Given the description of an element on the screen output the (x, y) to click on. 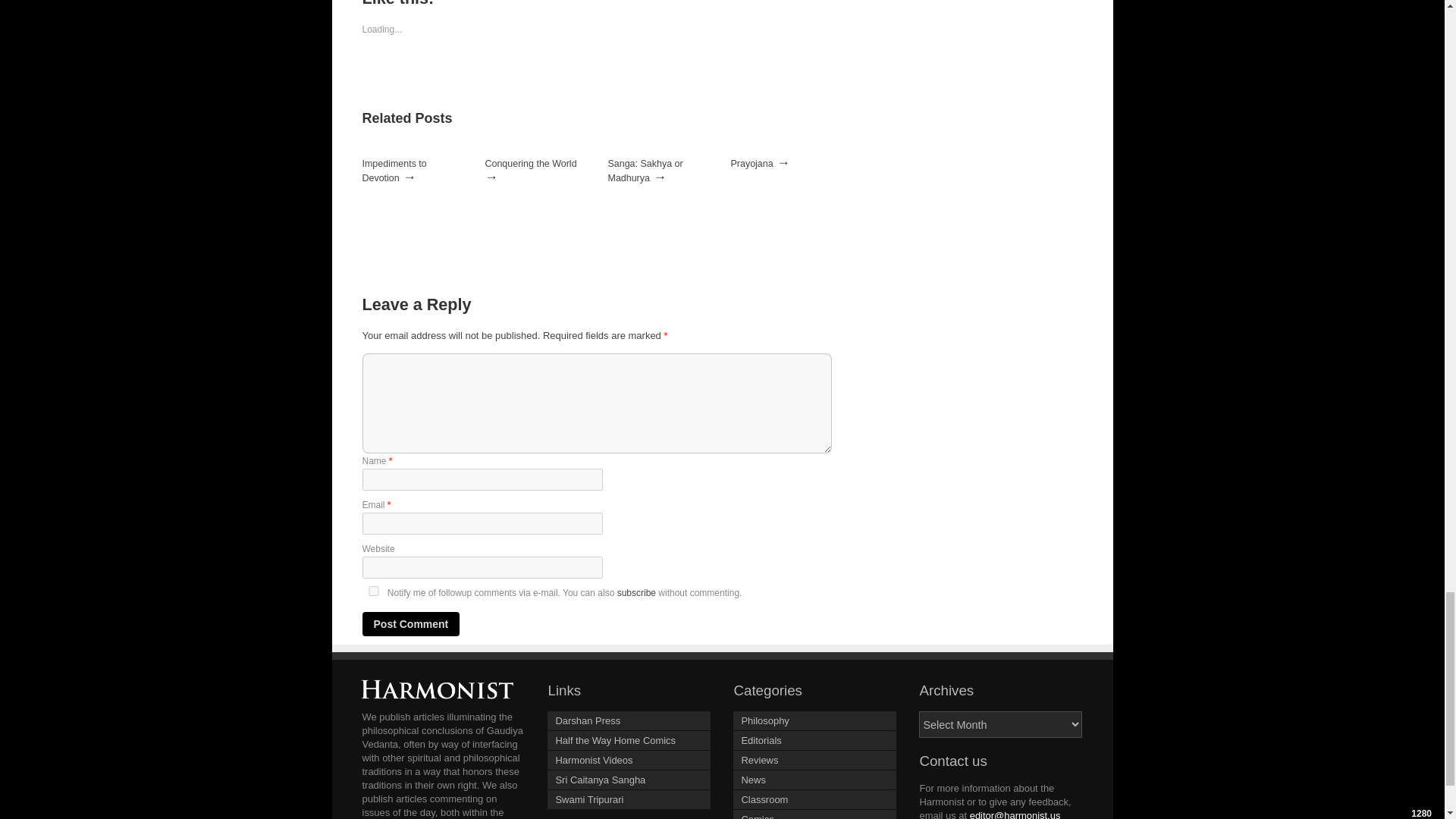
subscribe (636, 593)
Post Comment (411, 623)
Conquering the World (530, 163)
Impediments to Devotion (394, 170)
Prayojana (751, 163)
Post Comment (411, 623)
yes (373, 591)
Prayojana (751, 163)
Conquering the World (530, 163)
Sanga: Sakhya or Madhurya (645, 170)
Sanga: Sakhya or Madhurya (645, 170)
Impediments to Devotion (394, 170)
